Given the description of an element on the screen output the (x, y) to click on. 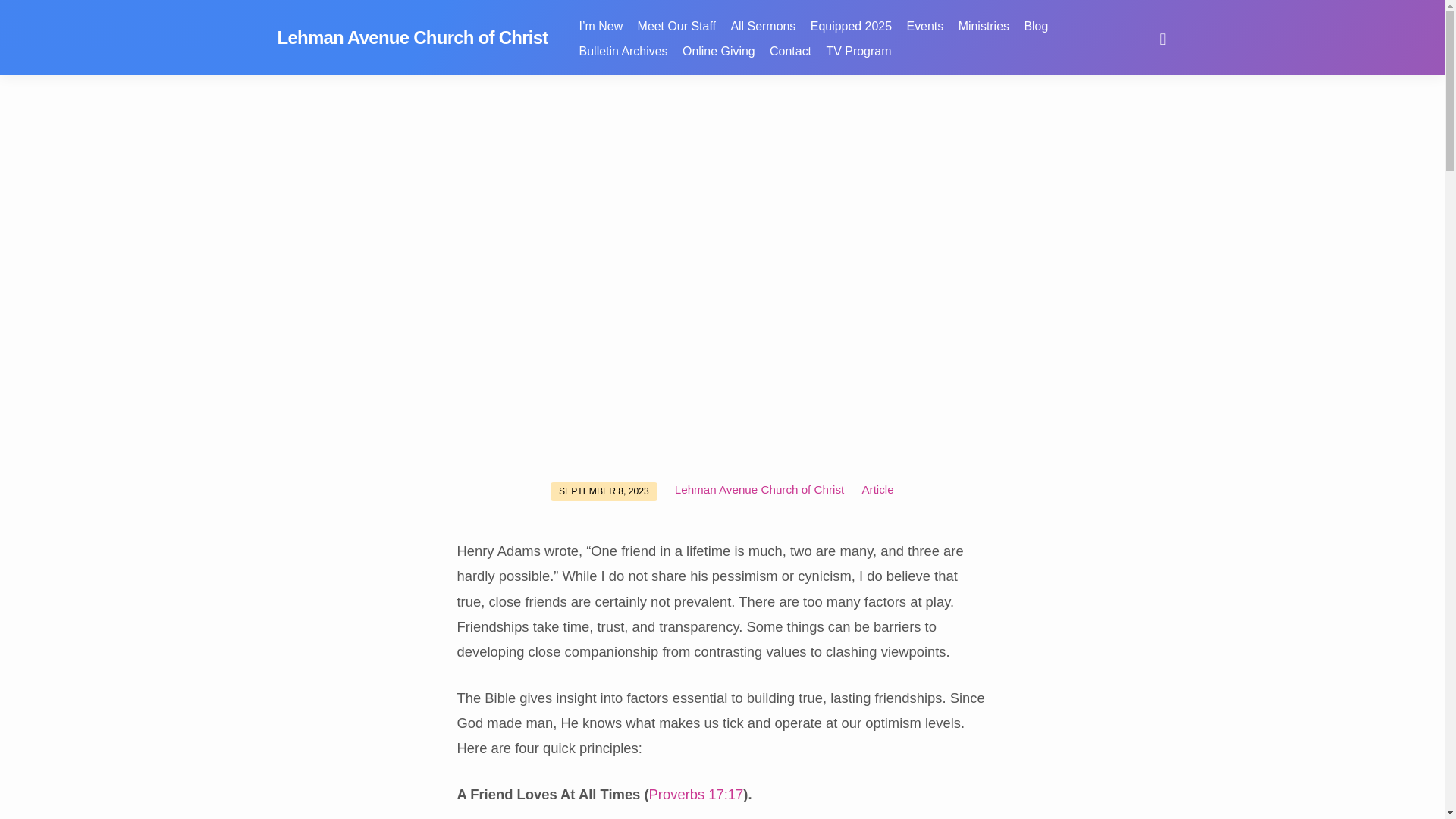
Meet Our Staff (676, 35)
Online Giving (718, 60)
All Sermons (762, 35)
Bulletin Archives (623, 60)
Contact (790, 60)
TV Program (859, 60)
Events (925, 35)
Equipped 2025 (850, 35)
Lehman Avenue Church of Christ (413, 37)
Ministries (983, 35)
